Given the description of an element on the screen output the (x, y) to click on. 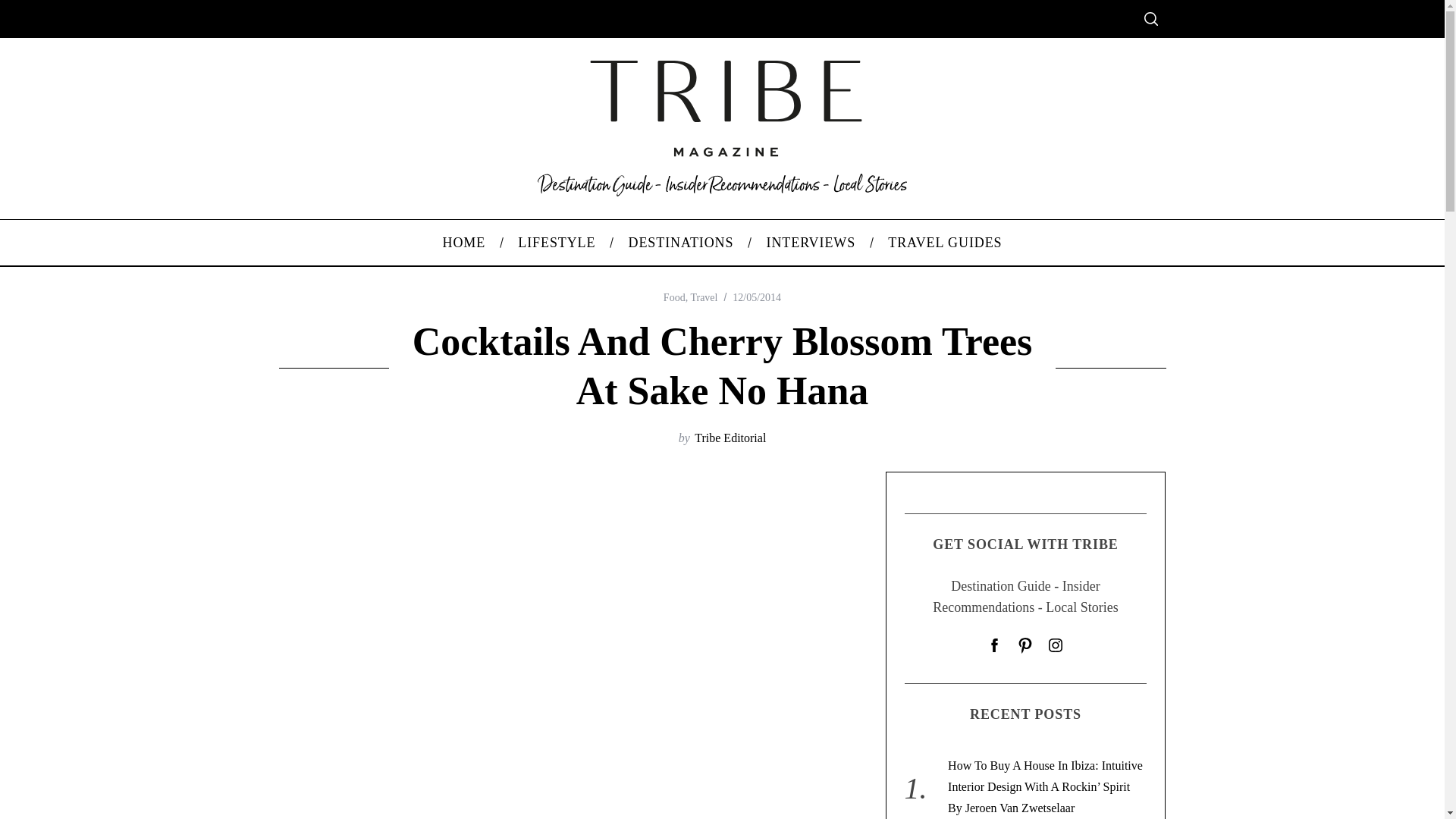
Interviews (810, 242)
Travel (703, 297)
Food (674, 297)
TRAVEL GUIDES (944, 242)
Home (464, 242)
DESTINATIONS (680, 242)
INTERVIEWS (810, 242)
Tribe Editorial (729, 437)
